Given the description of an element on the screen output the (x, y) to click on. 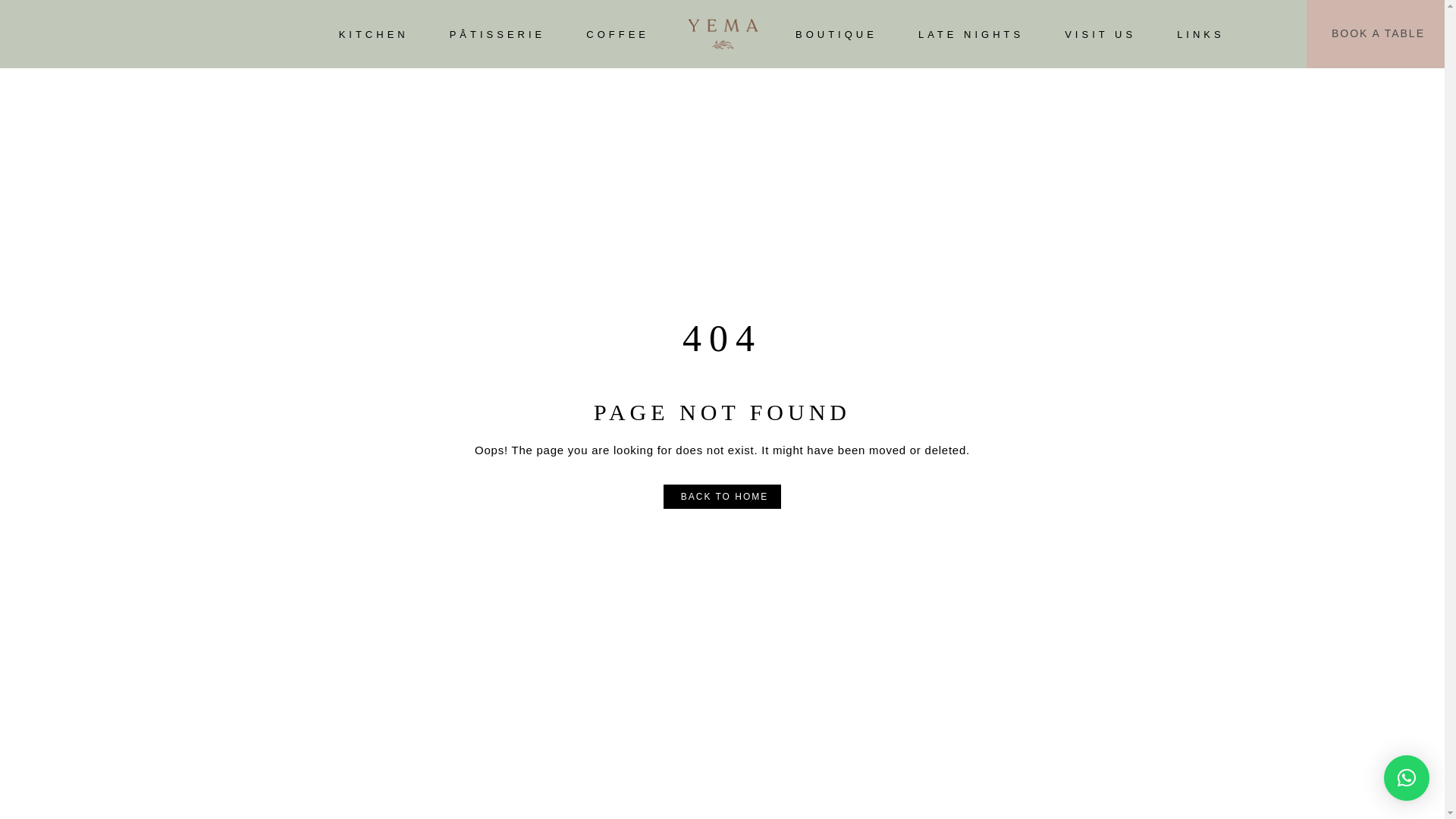
VISIT US (1099, 33)
KITCHEN (373, 33)
BACK TO HOME (722, 496)
LINKS (1200, 33)
COFFEE (617, 33)
BOUTIQUE (836, 33)
LATE NIGHTS (970, 33)
